Given the description of an element on the screen output the (x, y) to click on. 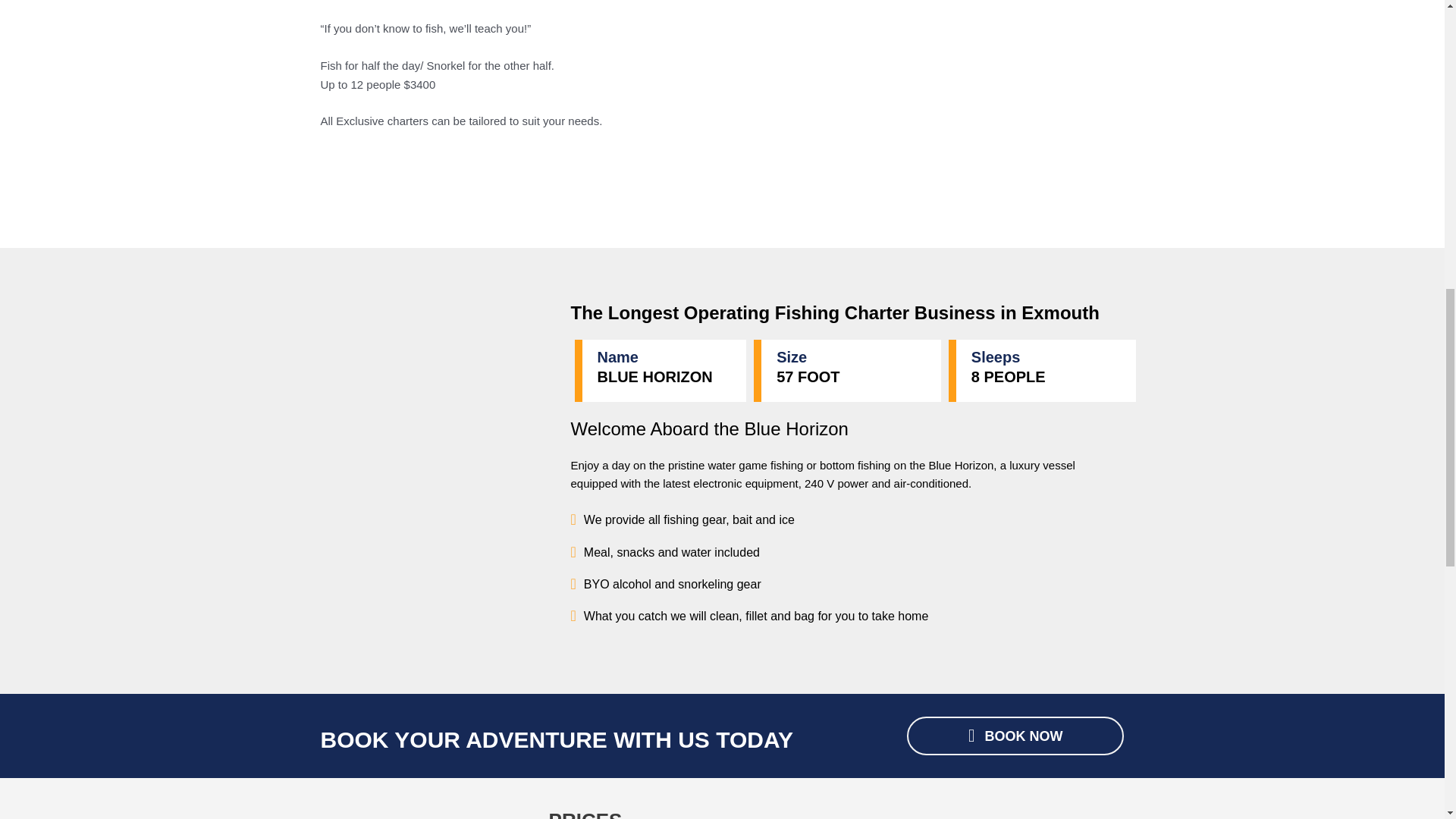
fishing charters perth (990, 108)
BOOK NOW (1015, 735)
blue horizon fishing charters perth (419, 813)
